Given the description of an element on the screen output the (x, y) to click on. 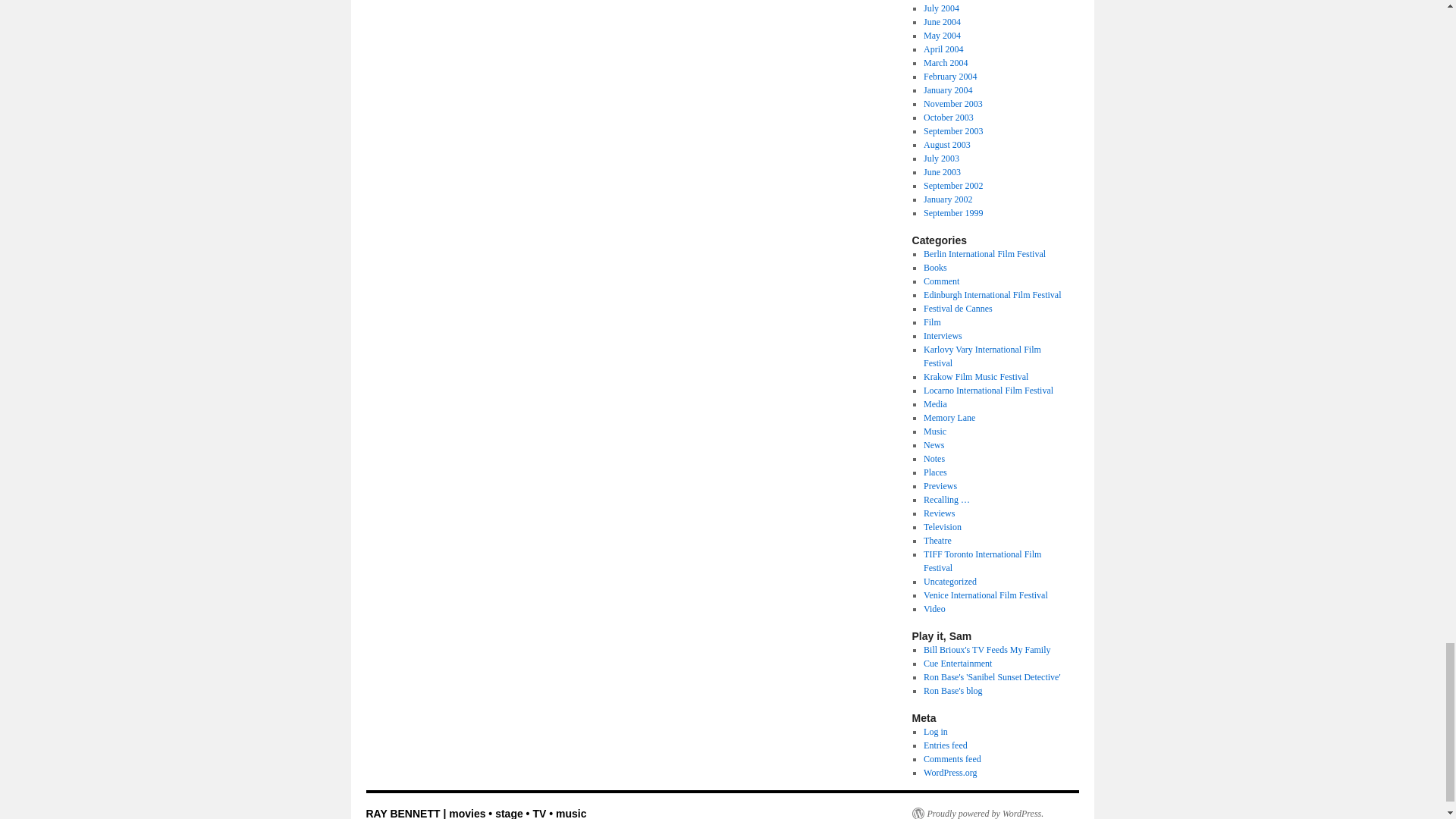
News and views from Canadian TV writer Bill Brioux (986, 649)
Novelist and screenwriter Ron Base presents his latest work. (991, 676)
